Given the description of an element on the screen output the (x, y) to click on. 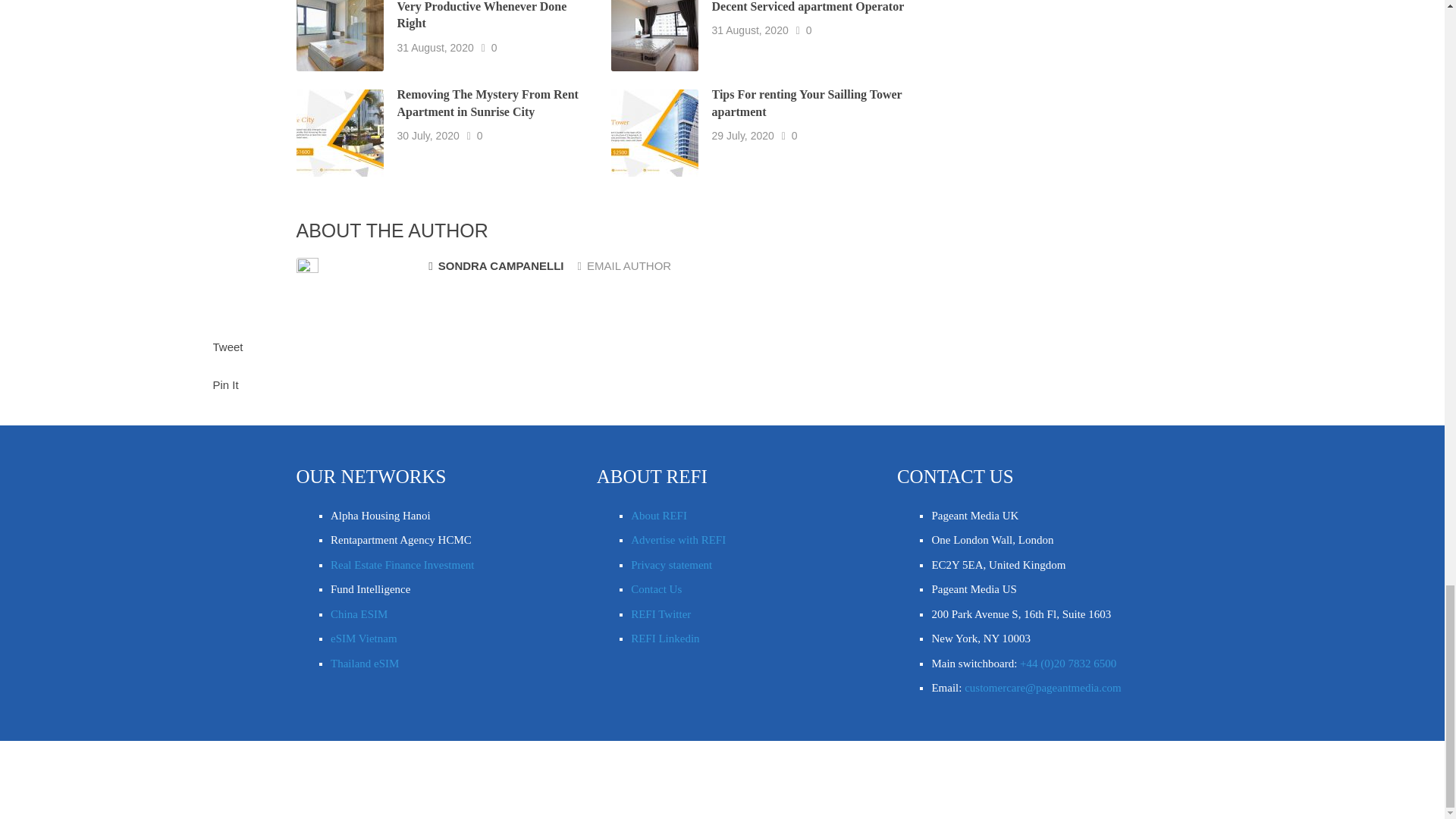
Removing The Mystery From Rent Apartment in Sunrise City (487, 102)
Tips For renting Your Sailling Tower apartment (806, 102)
SONDRA CAMPANELLI (495, 266)
Tips For renting Your Sailling Tower apartment (806, 102)
0 (480, 135)
0 (809, 29)
0 (794, 135)
EMAIL AUTHOR (624, 265)
Removing The Mystery From Rent Apartment in Sunrise City (487, 102)
